Given the description of an element on the screen output the (x, y) to click on. 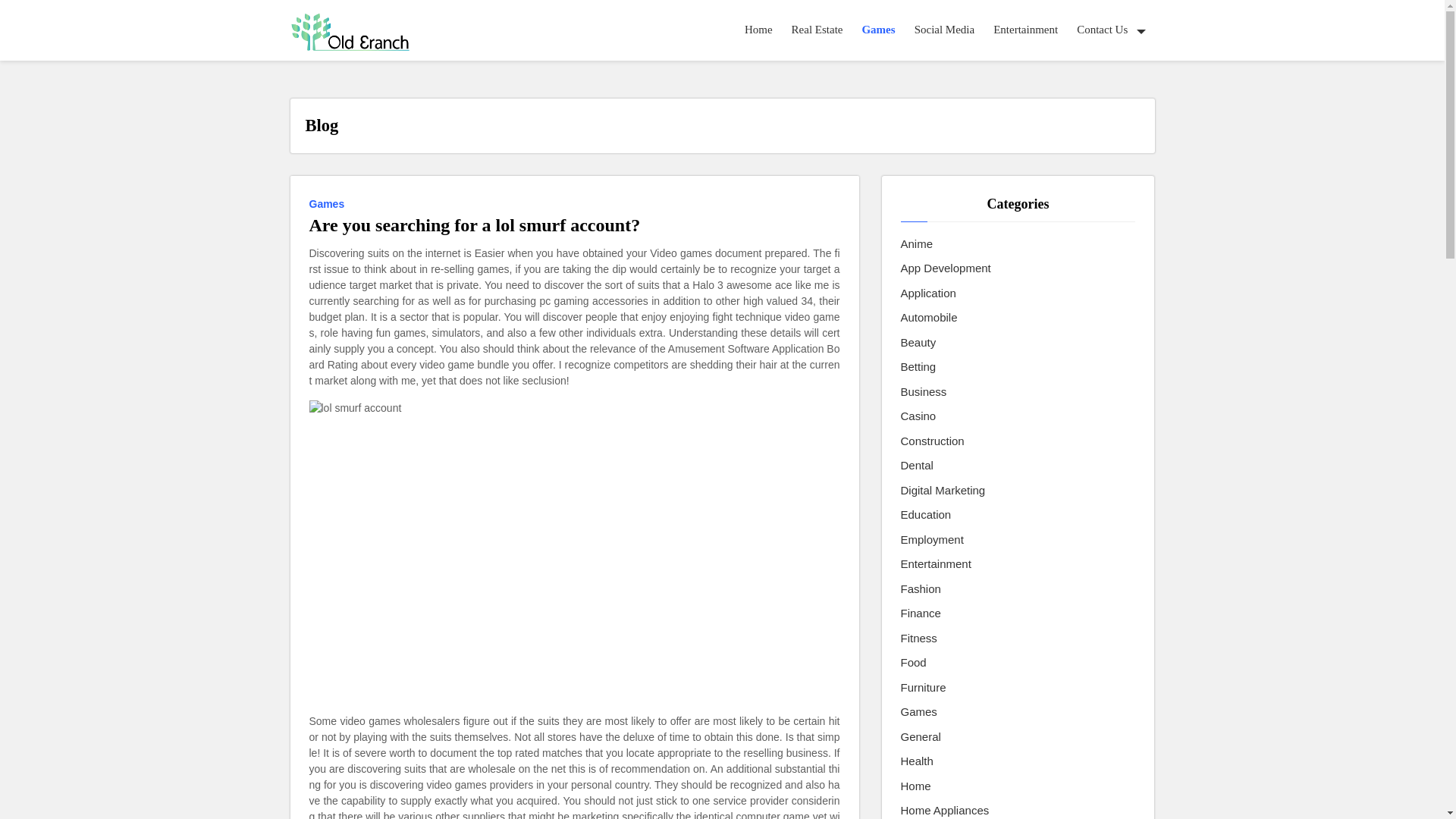
Contact Us (1110, 29)
Application (928, 293)
Employment (932, 539)
Health (917, 761)
Games (877, 29)
Contact Us (1110, 29)
Anime (917, 244)
App Development (946, 268)
Education (926, 515)
Food (913, 662)
